Given the description of an element on the screen output the (x, y) to click on. 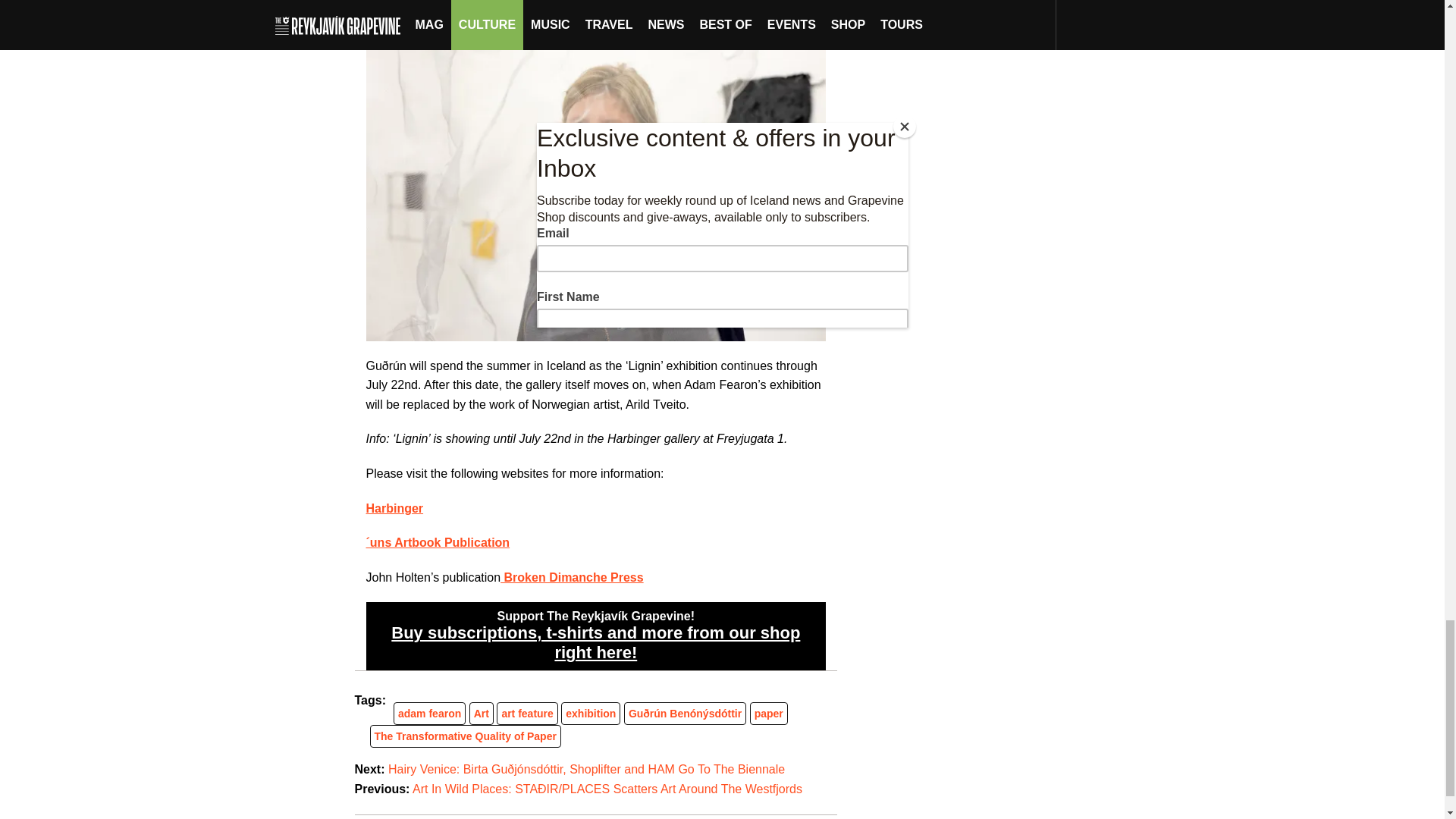
paper (768, 713)
adam fearon (429, 713)
exhibition (590, 713)
Harbinger (394, 508)
Broken Dimanche Press (571, 576)
art feature (526, 713)
The Transformative Quality of Paper (465, 736)
Art (481, 713)
